Given the description of an element on the screen output the (x, y) to click on. 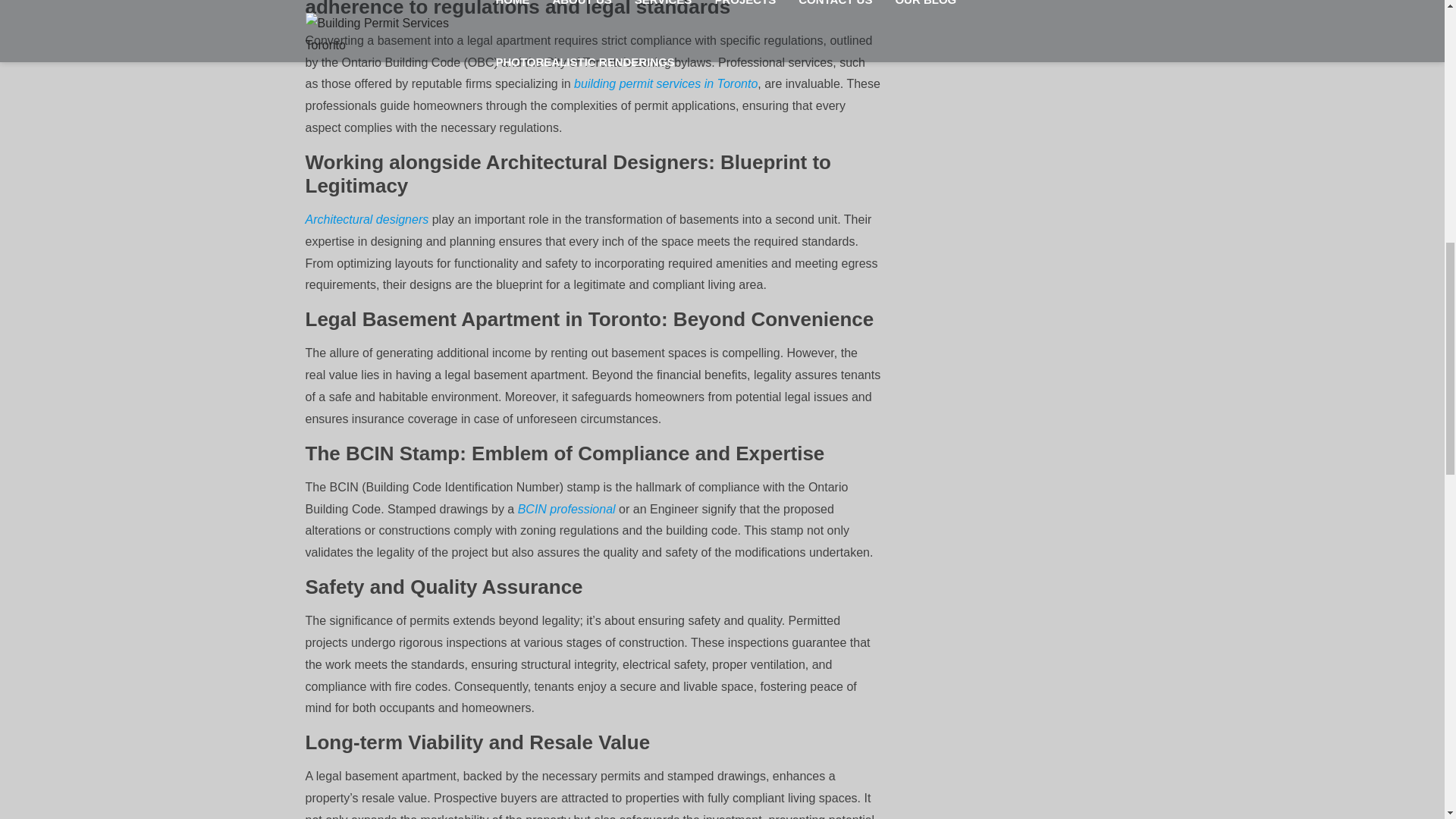
BCIN professional (566, 508)
building permit services in Toronto (664, 83)
Architectural designers (366, 219)
